Given the description of an element on the screen output the (x, y) to click on. 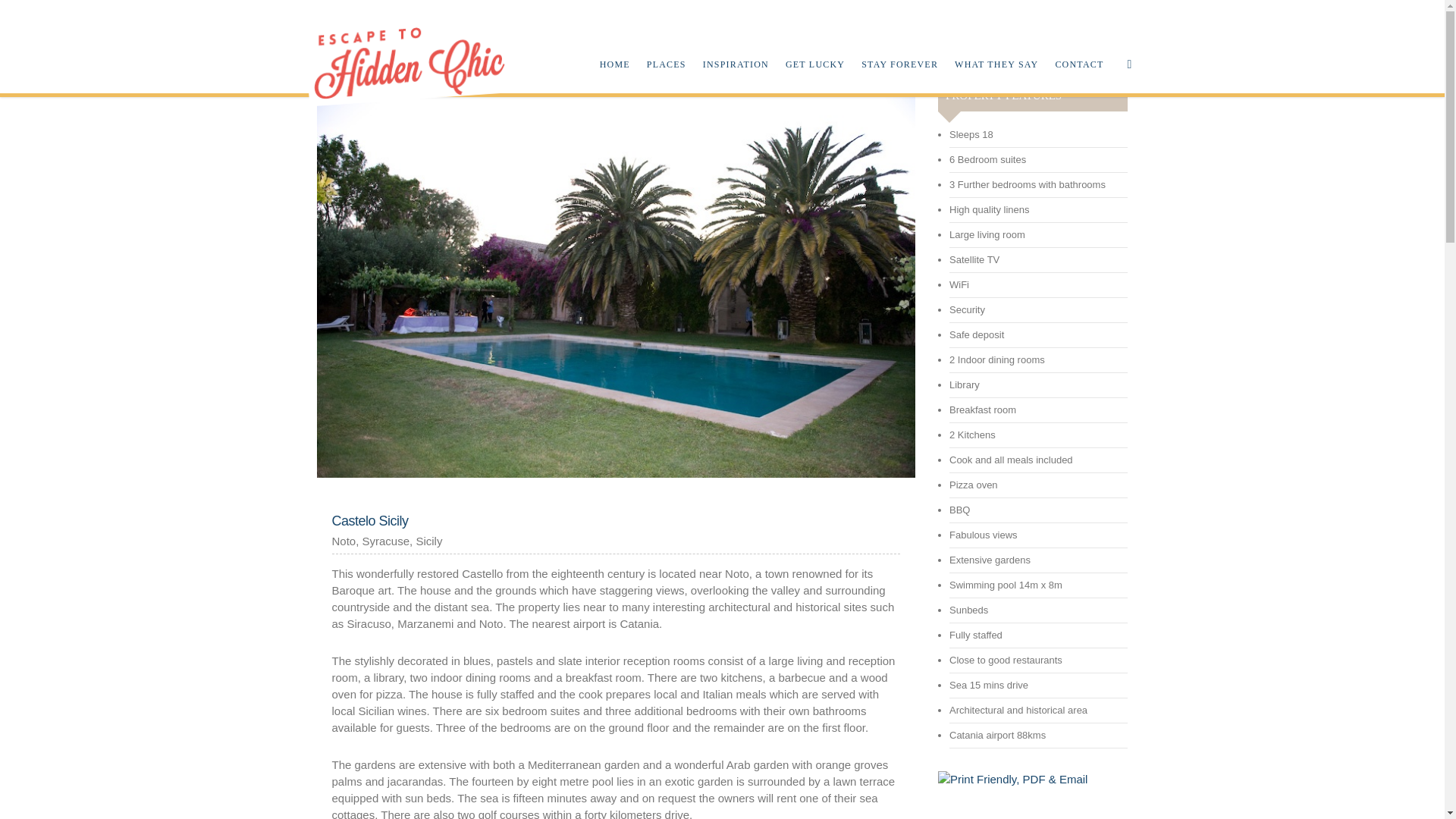
HOME (614, 46)
INSPIRATION (735, 46)
WHAT THEY SAY (996, 46)
PLACES (666, 46)
CONTACT (1078, 46)
GET LUCKY (814, 46)
STAY FOREVER (898, 46)
